Given the description of an element on the screen output the (x, y) to click on. 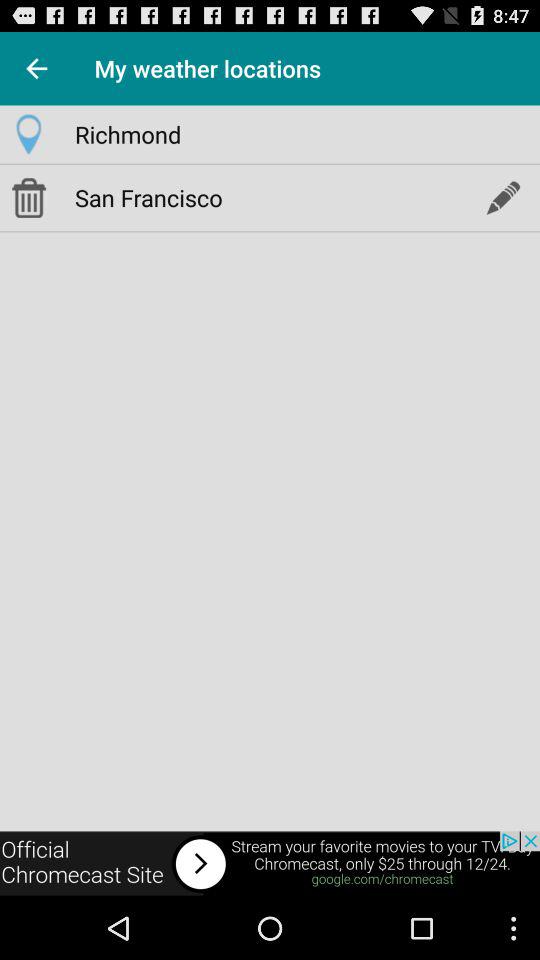
edit location (502, 197)
